Given the description of an element on the screen output the (x, y) to click on. 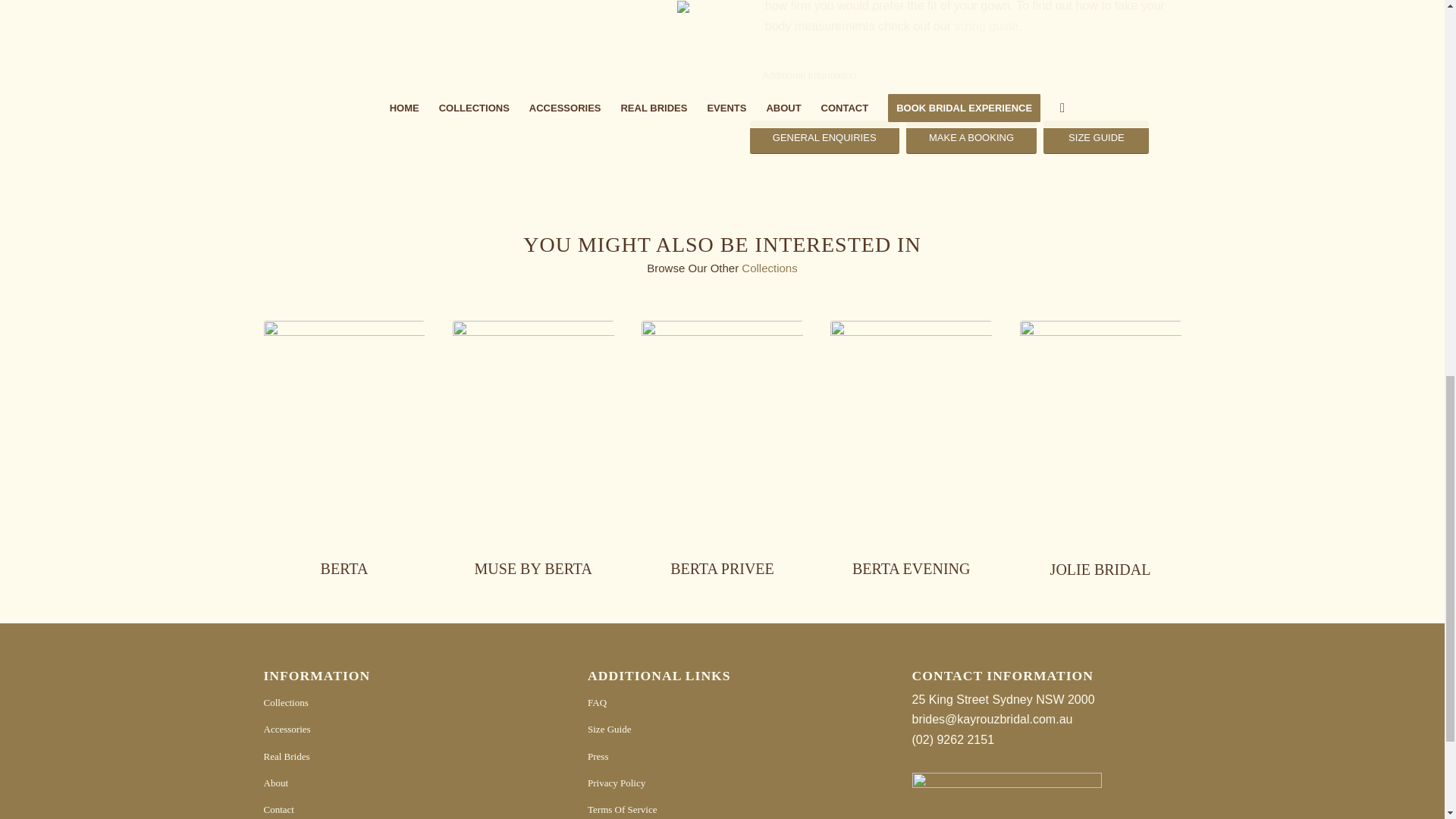
Collections (768, 267)
SIZE GUIDE (1095, 137)
GENERAL ENQUIRIES (824, 137)
sizing guide (987, 25)
MAKE A BOOKING (970, 137)
